Given the description of an element on the screen output the (x, y) to click on. 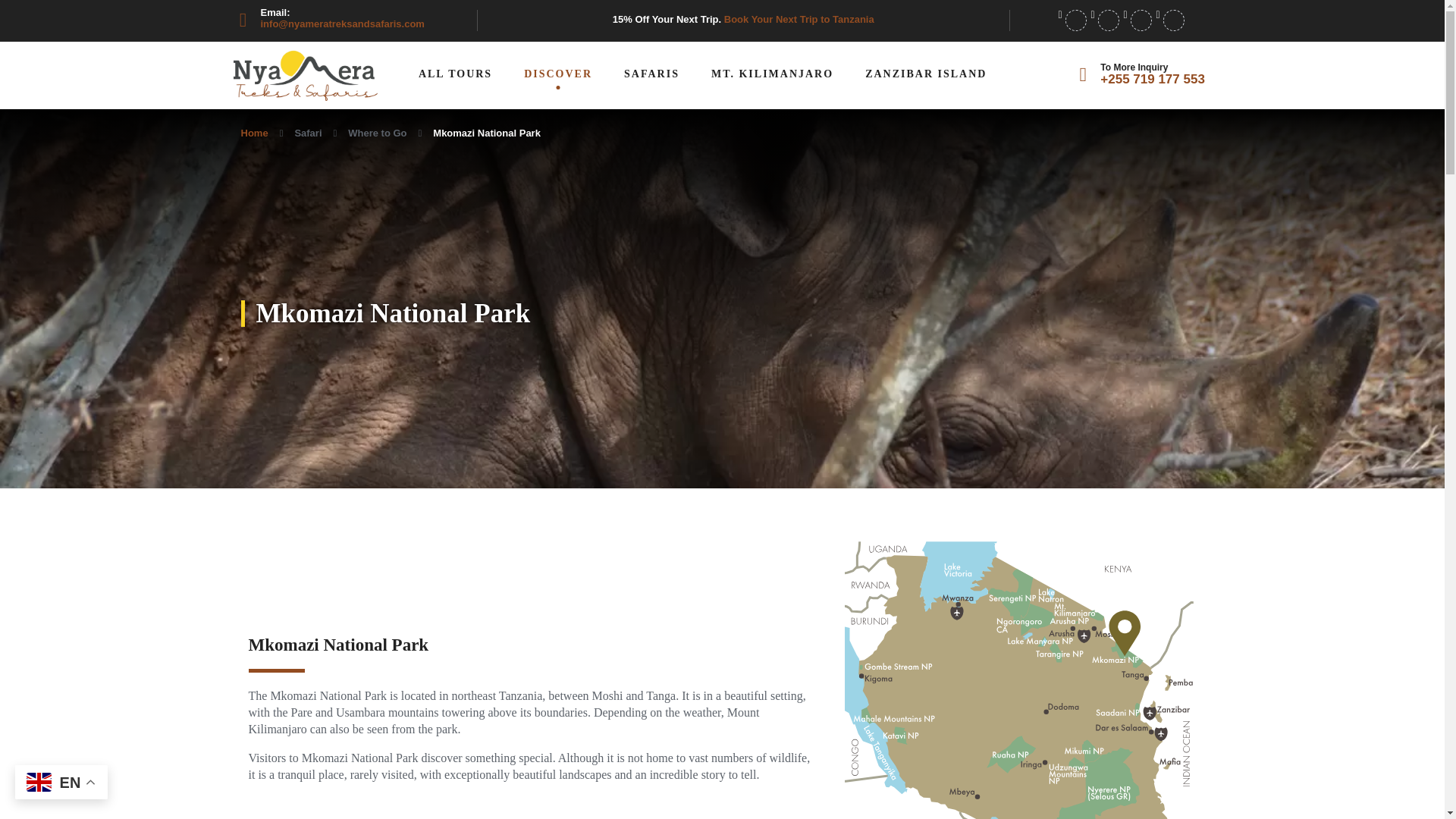
Book Your Next Trip to Tanzania (799, 19)
DISCOVER (558, 74)
SAFARIS (652, 74)
ZANZIBAR ISLAND (925, 74)
MT. KILIMANJARO (772, 74)
ALL TOURS (455, 74)
